Given the description of an element on the screen output the (x, y) to click on. 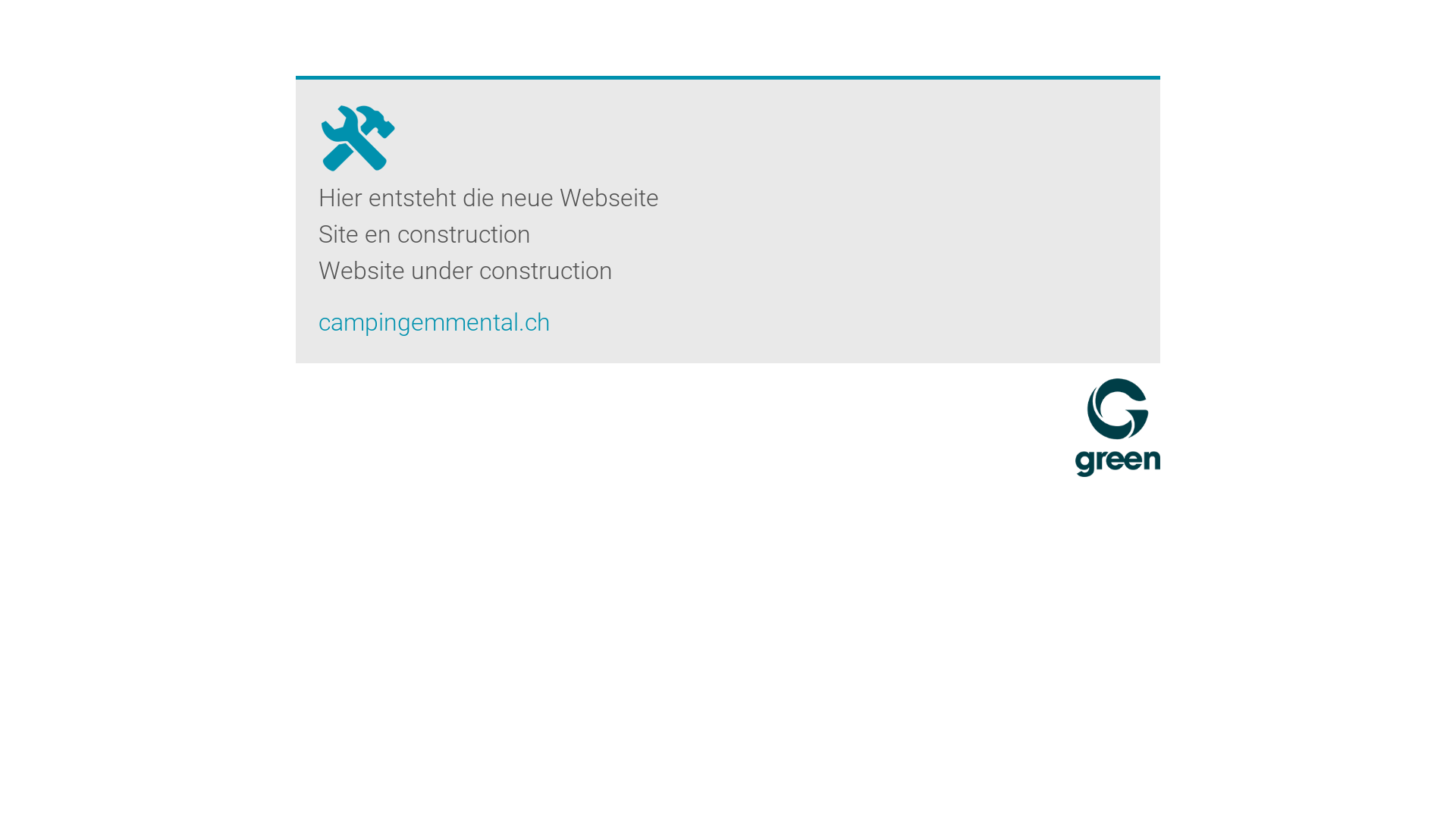
powered by green.ch Element type: hover (1117, 427)
coming soon Element type: hover (357, 129)
